Given the description of an element on the screen output the (x, y) to click on. 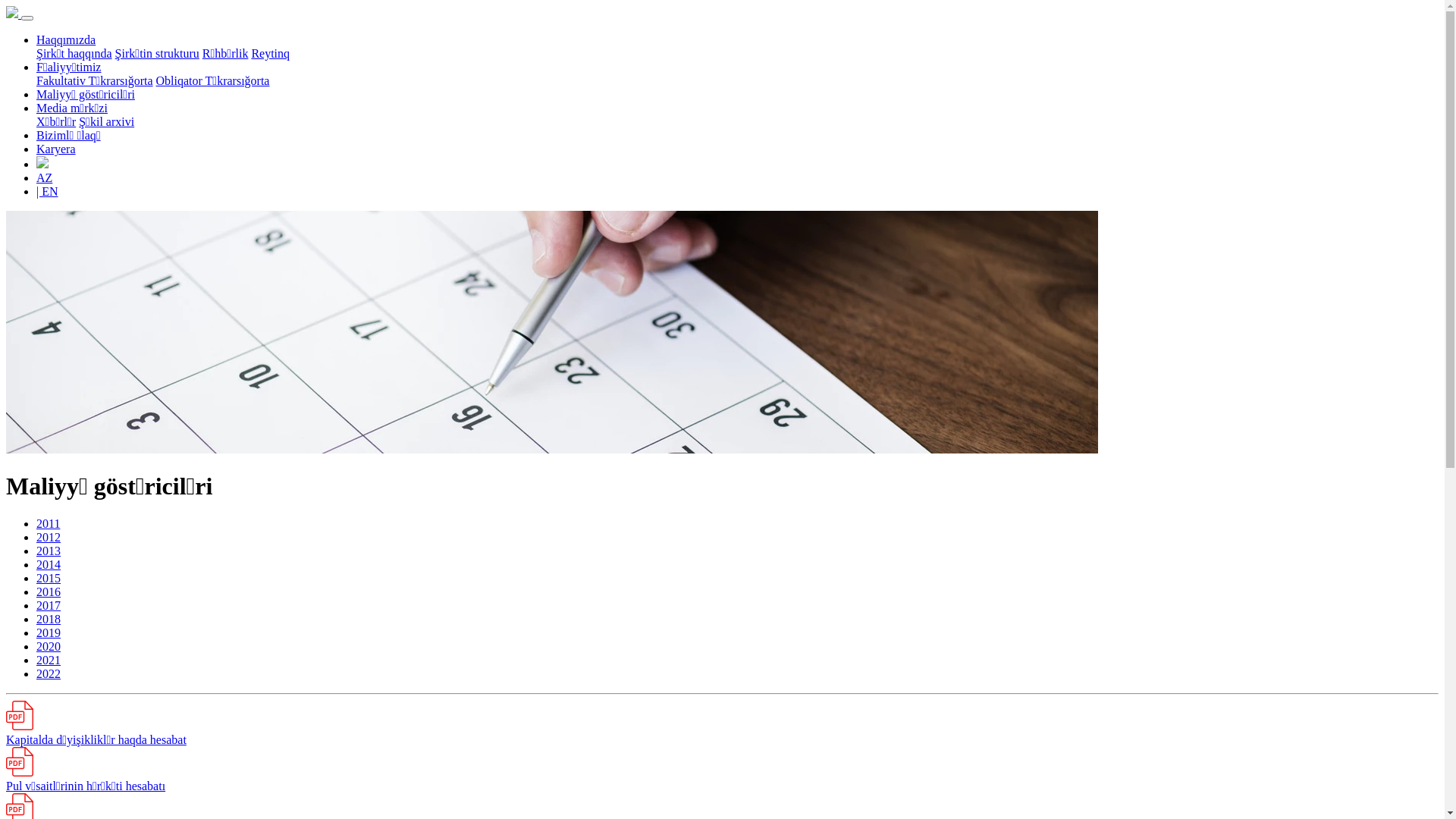
2018 Element type: text (48, 618)
2016 Element type: text (48, 591)
Karyera Element type: text (55, 148)
2014 Element type: text (48, 564)
2017 Element type: text (48, 605)
2020 Element type: text (48, 646)
2021 Element type: text (48, 659)
2012 Element type: text (48, 536)
2022 Element type: text (48, 673)
| EN Element type: text (47, 191)
2013 Element type: text (48, 550)
Reytinq Element type: text (270, 53)
2011 Element type: text (47, 523)
2015 Element type: text (48, 577)
AZ Element type: text (44, 177)
2019 Element type: text (48, 632)
